Given the description of an element on the screen output the (x, y) to click on. 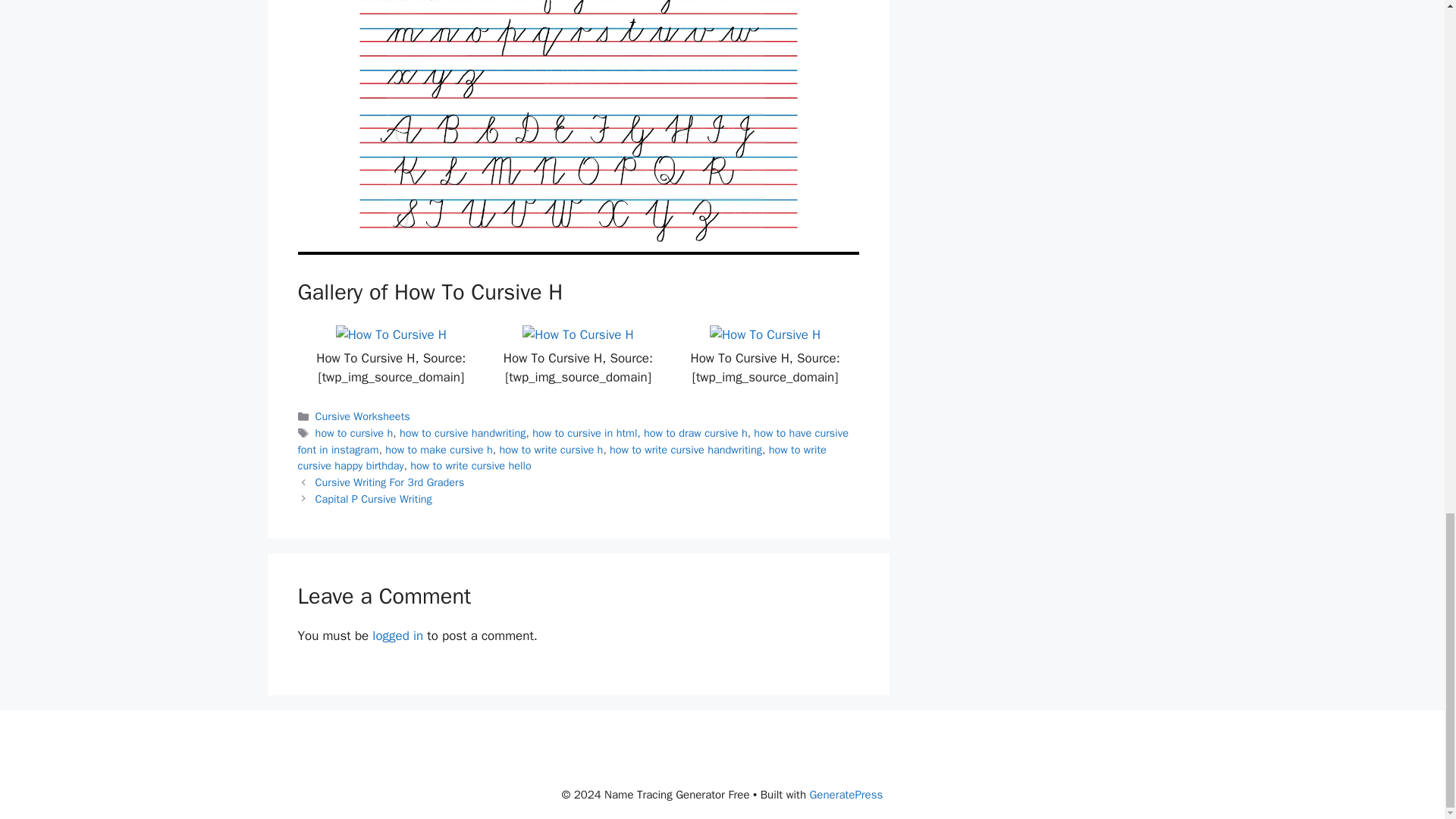
how to have cursive font in instagram (572, 440)
Capital P Cursive Writing (373, 499)
how to write cursive handwriting (685, 449)
how to cursive h (354, 432)
how to cursive in html (584, 432)
Cursive Writing For 3rd Graders (389, 481)
how to write cursive hello (470, 465)
how to write cursive happy birthday (561, 458)
how to make cursive h (439, 449)
how to write cursive h (550, 449)
Cursive Worksheets (362, 416)
how to draw cursive h (695, 432)
logged in (397, 635)
how to cursive handwriting (461, 432)
